Given the description of an element on the screen output the (x, y) to click on. 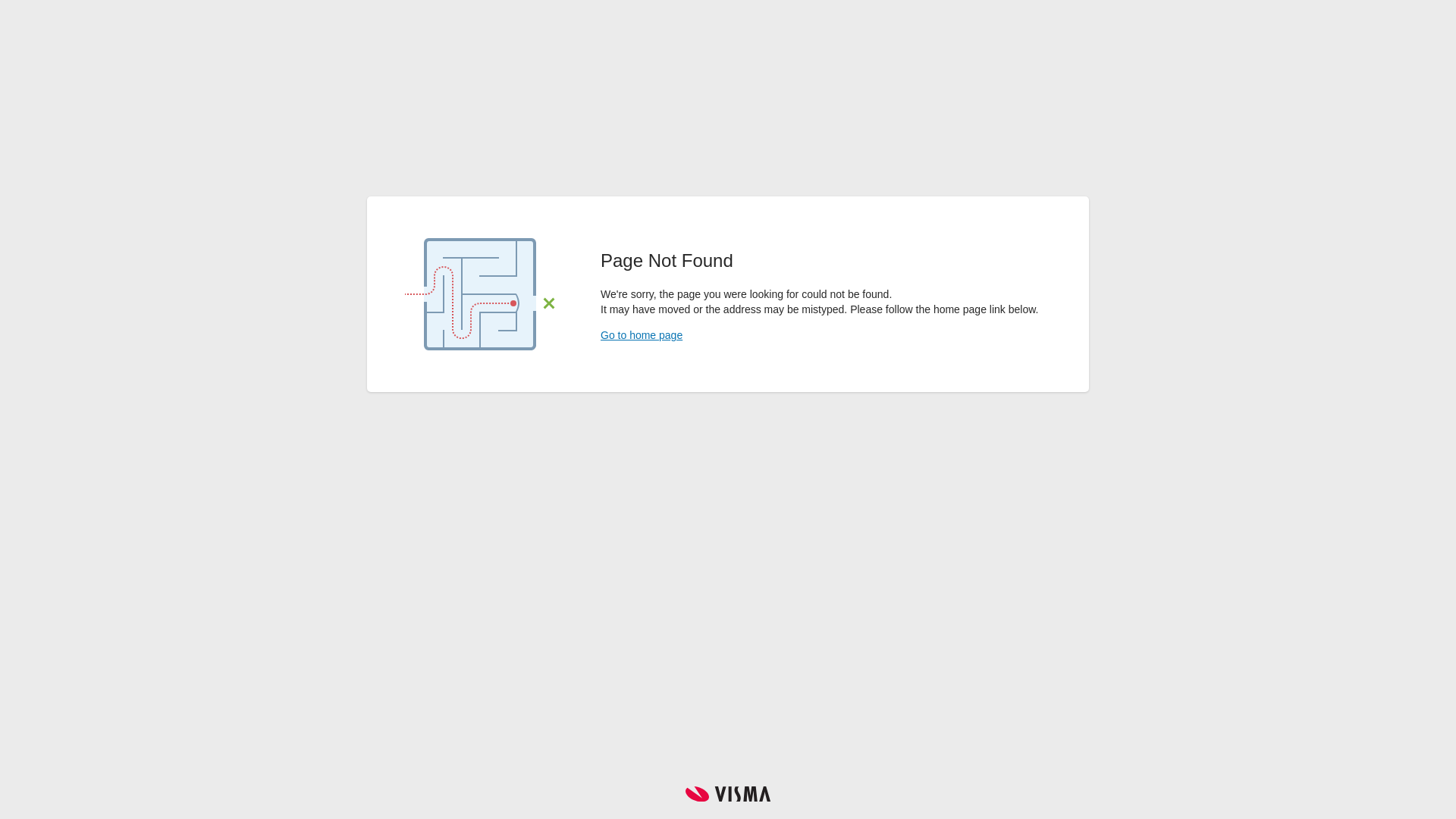
Go to home page (640, 335)
